Given the description of an element on the screen output the (x, y) to click on. 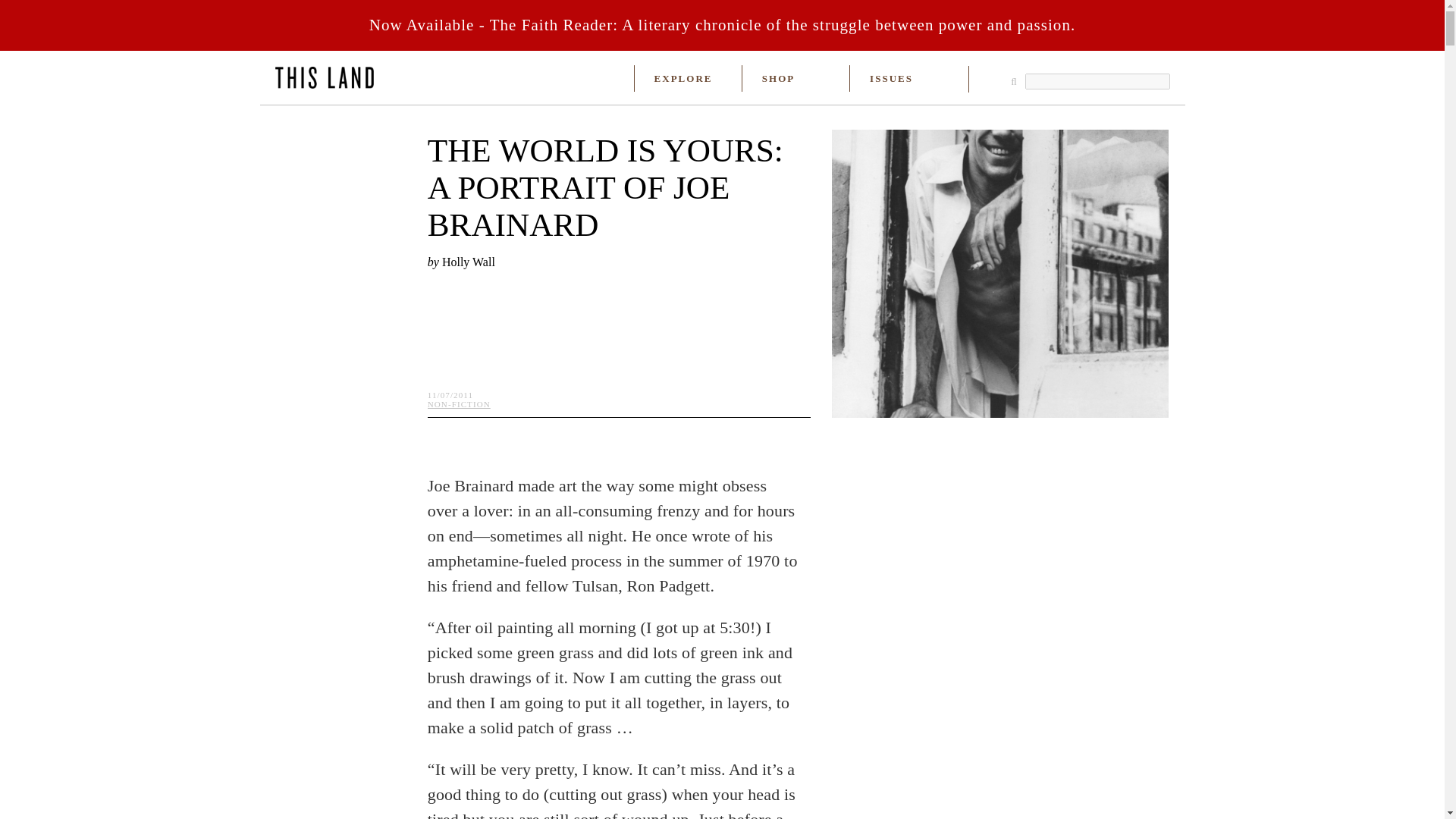
ISSUES (890, 78)
NON-FICTION (459, 403)
SHOP (777, 78)
EXPLORE (683, 78)
